Given the description of an element on the screen output the (x, y) to click on. 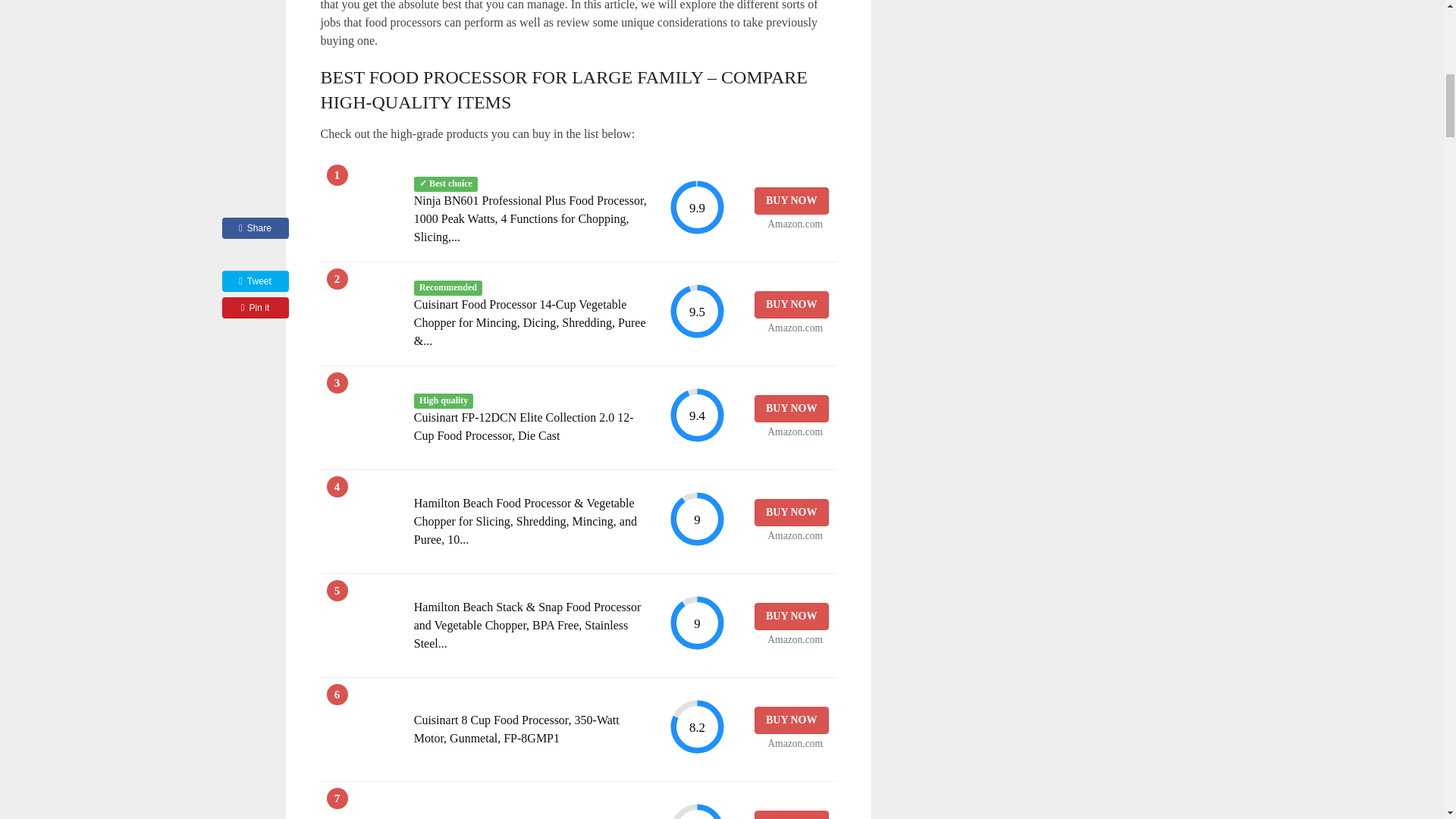
9.5 (696, 310)
9 (696, 622)
9 (696, 518)
9.9 (696, 207)
8.2 (696, 810)
9.4 (696, 414)
8.2 (696, 726)
